Given the description of an element on the screen output the (x, y) to click on. 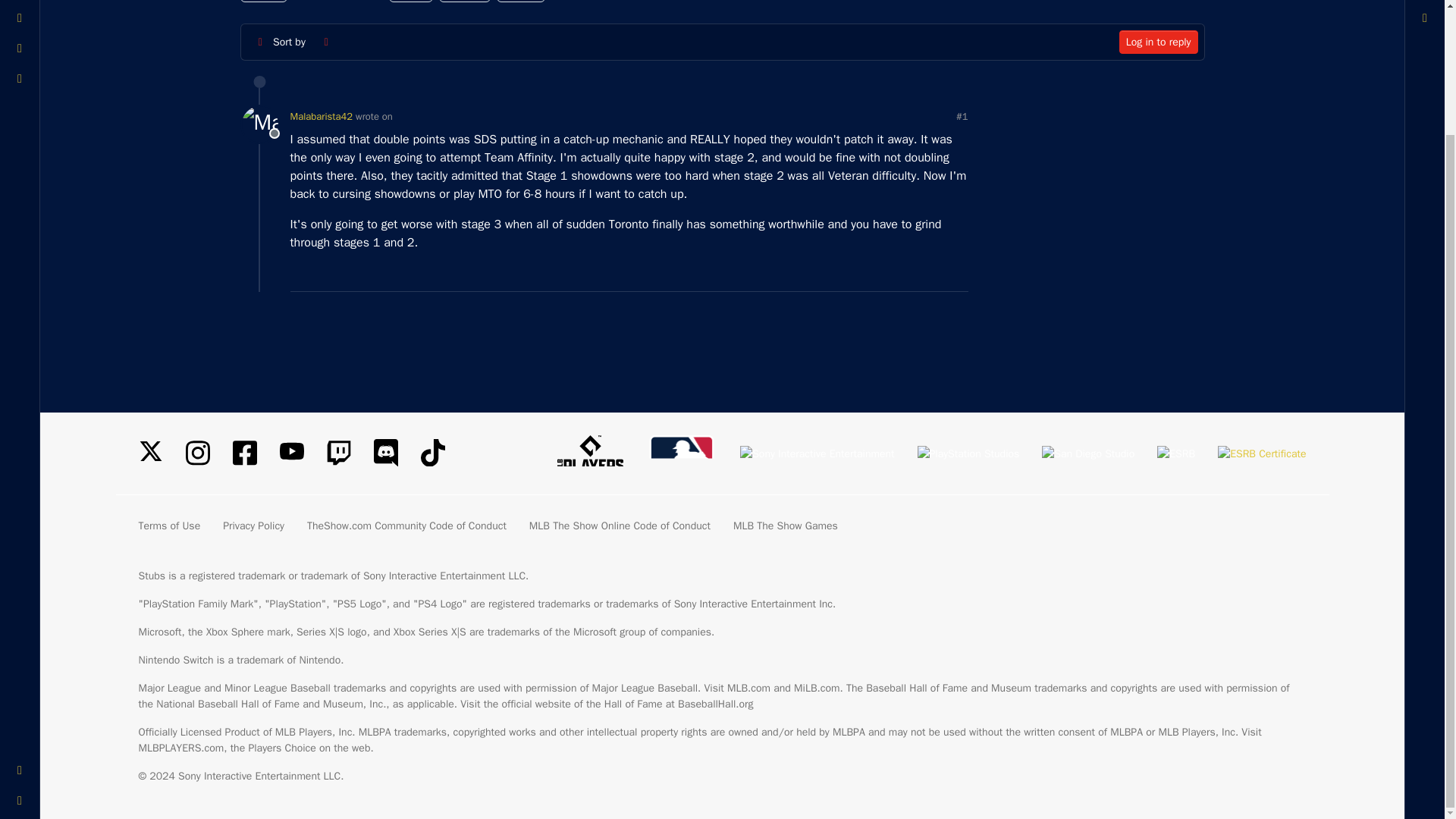
Skins (19, 620)
Expand (19, 650)
X (149, 450)
YouTube (290, 450)
Malabarista42 (320, 115)
Diamond Dynasty (338, 1)
Offline (259, 124)
Log in to reply (1158, 42)
Sort by (280, 42)
Malabarista42 (259, 124)
